Given the description of an element on the screen output the (x, y) to click on. 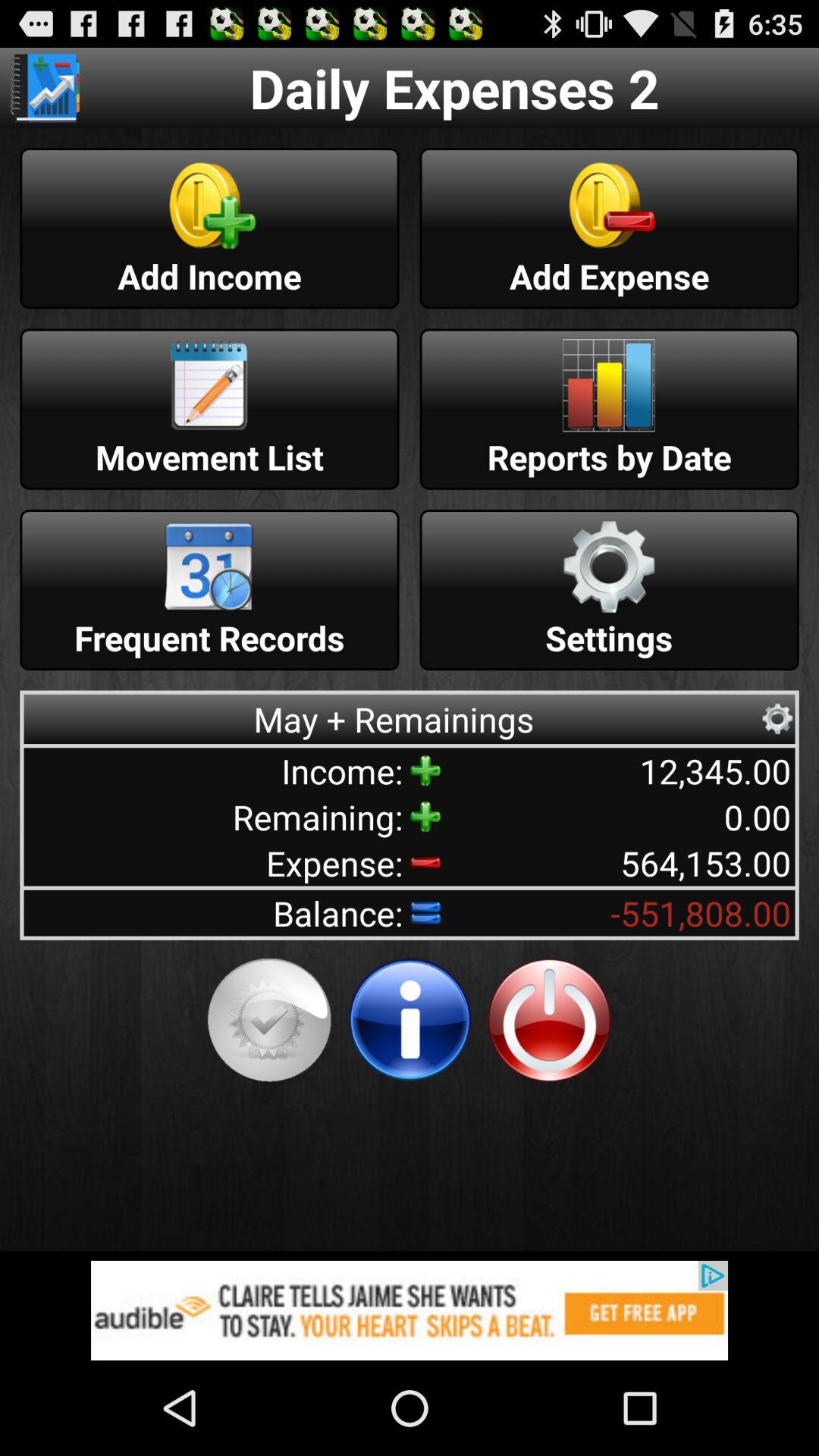
see your statistics (44, 87)
